Given the description of an element on the screen output the (x, y) to click on. 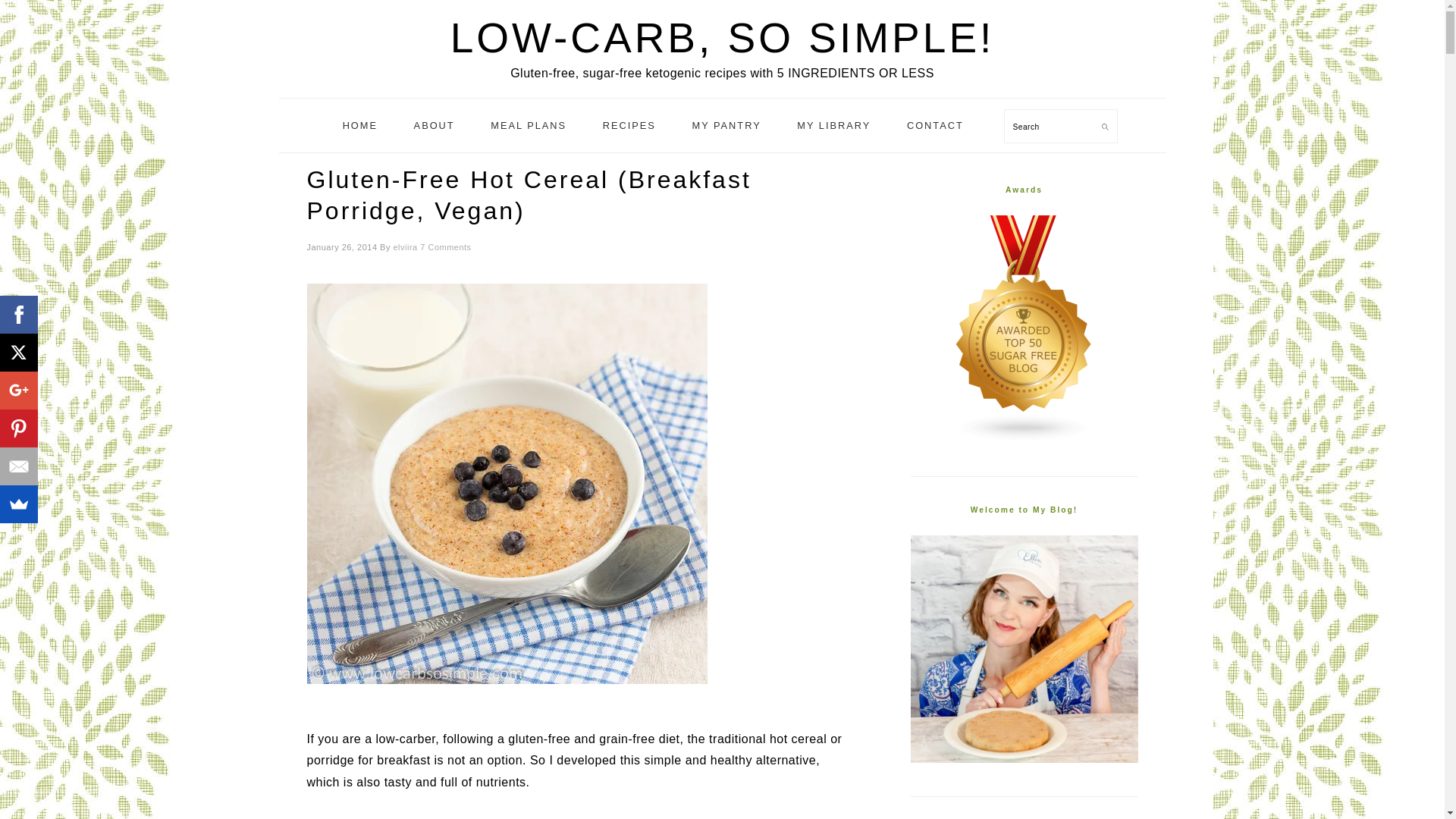
CONTACT (935, 125)
ABOUT (433, 125)
MY PANTRY (725, 125)
LOW-CARB, SO SIMPLE! (721, 37)
MY LIBRARY (833, 125)
MEAL PLANS (528, 125)
HOME (359, 125)
RECIPES (628, 125)
7 Comments (445, 246)
elviira (404, 246)
